Given the description of an element on the screen output the (x, y) to click on. 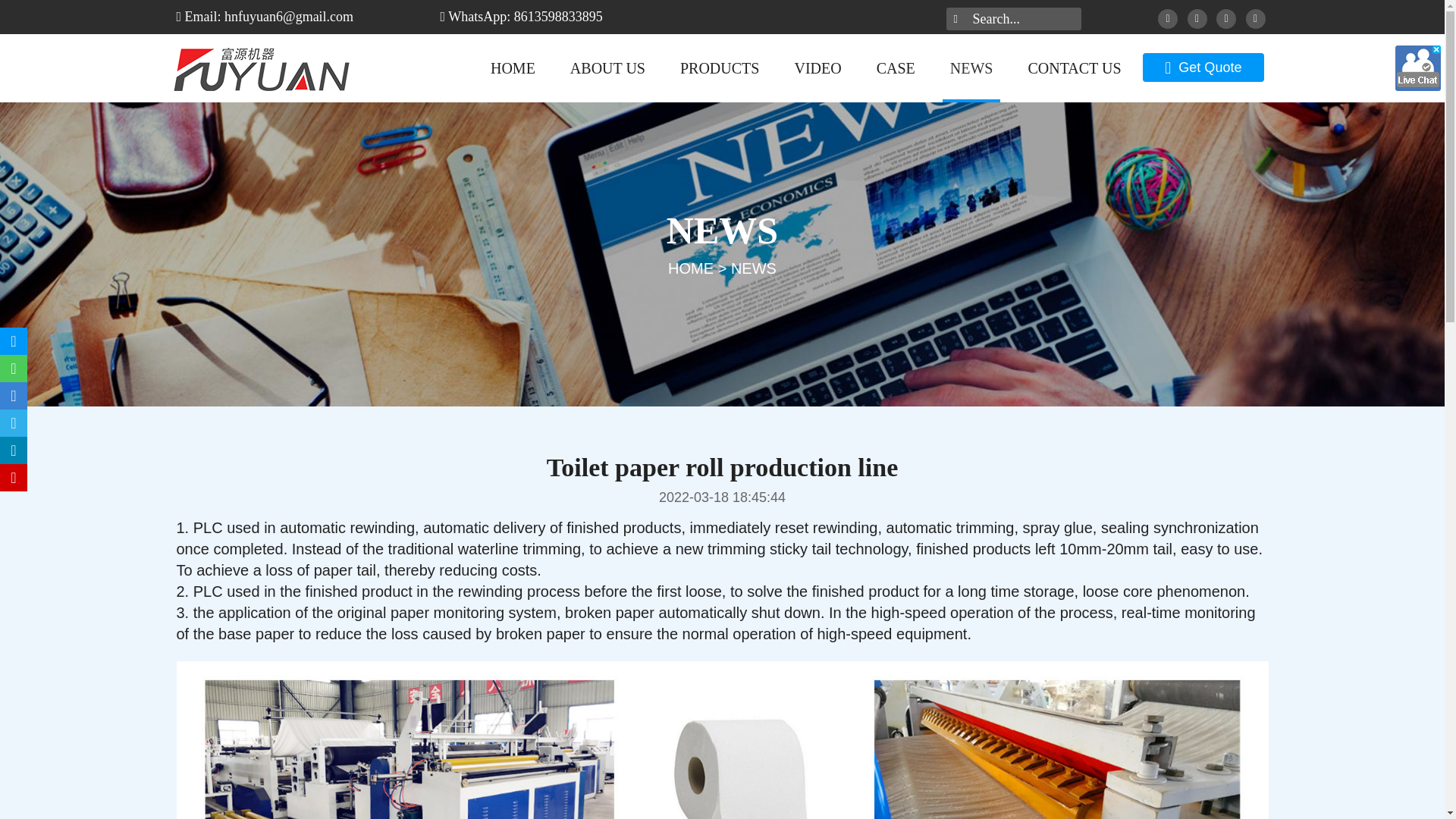
facebook (1167, 18)
WhatsApp: 8613598833895 (521, 16)
twitter (1197, 18)
CONTACT US (1074, 68)
linkedin (1225, 18)
youtube (1254, 18)
VIDEO (817, 68)
ABOUT US (607, 68)
PRODUCTS (719, 68)
